Given the description of an element on the screen output the (x, y) to click on. 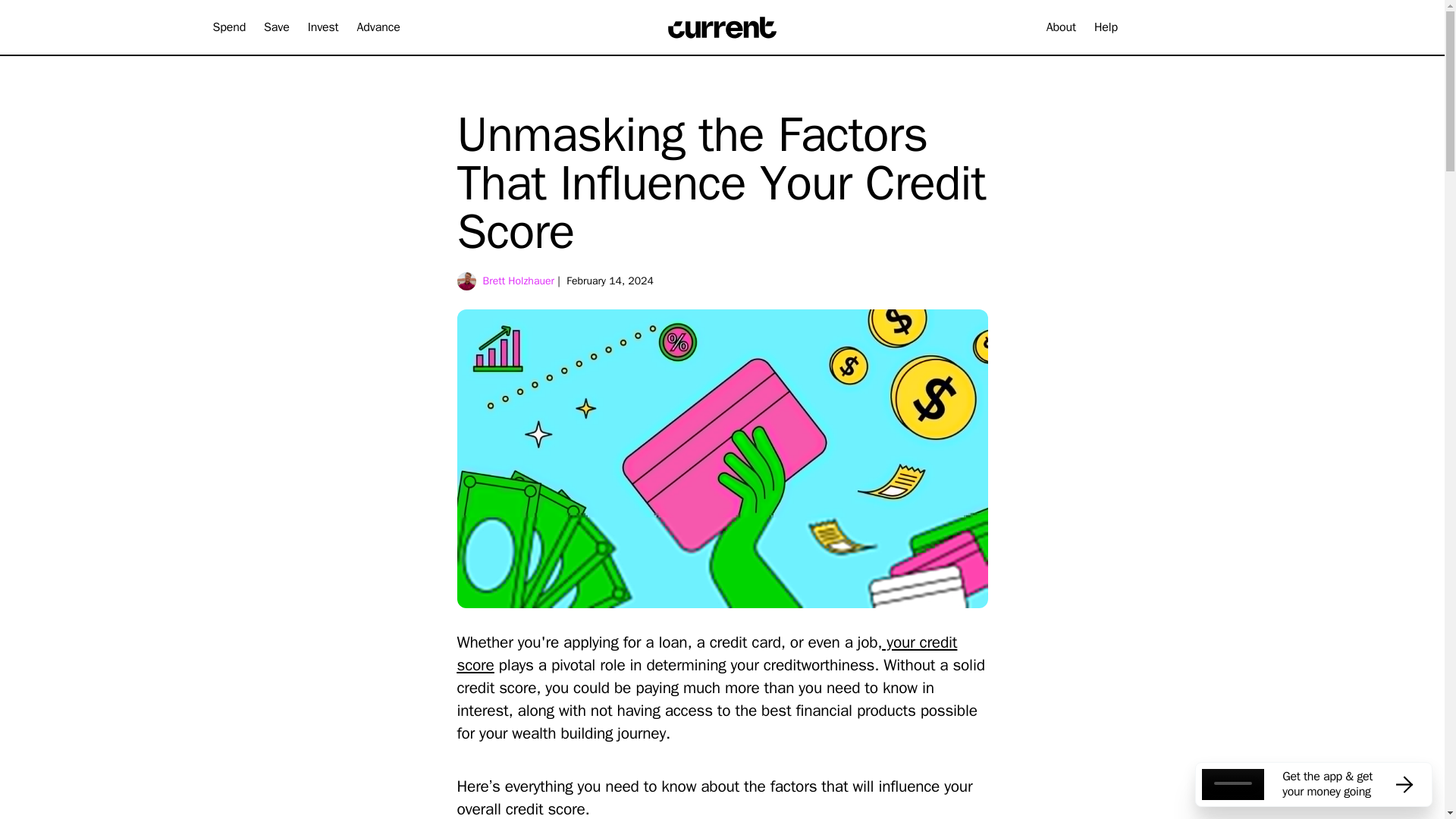
Brett Holzhauer (517, 280)
Get started (1183, 27)
Go to home - Current.com (721, 27)
Spend (229, 27)
Save (276, 27)
Advance (378, 27)
Invest (323, 27)
About (1060, 27)
Current Logo (722, 27)
Help (1106, 27)
